Given the description of an element on the screen output the (x, y) to click on. 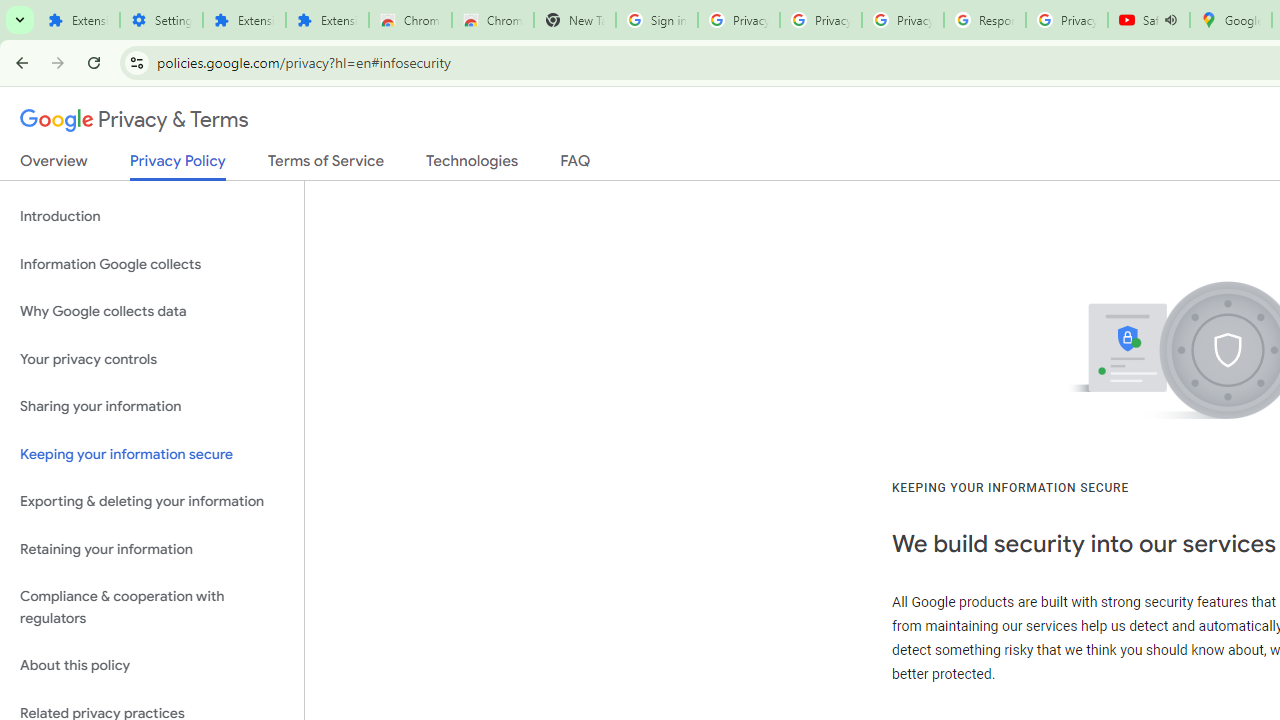
Why Google collects data (152, 312)
Chrome Web Store - Themes (492, 20)
Information Google collects (152, 263)
Sharing your information (152, 407)
Sign in - Google Accounts (656, 20)
